Given the description of an element on the screen output the (x, y) to click on. 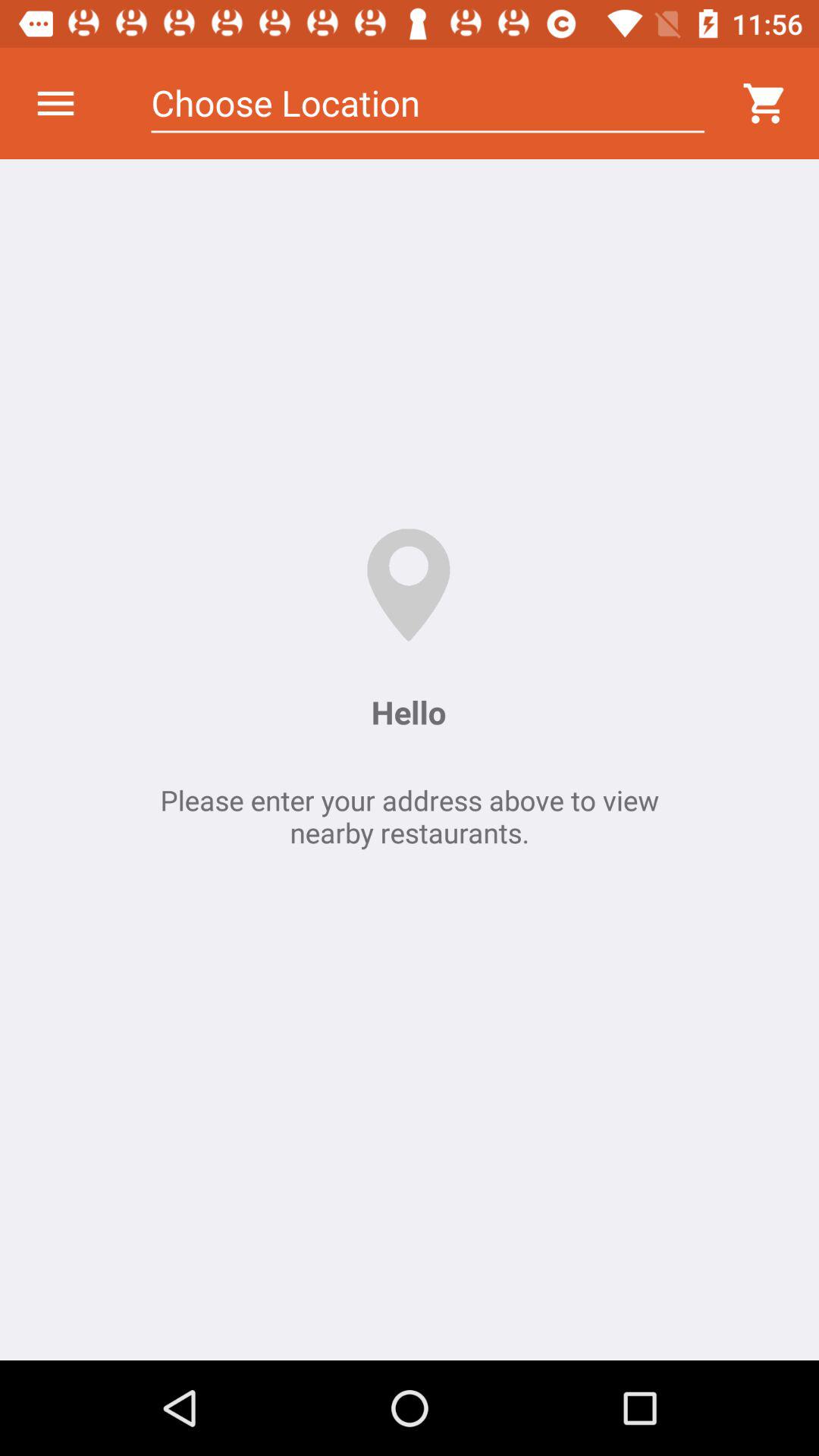
click the icon to the left of choose location (55, 103)
